Given the description of an element on the screen output the (x, y) to click on. 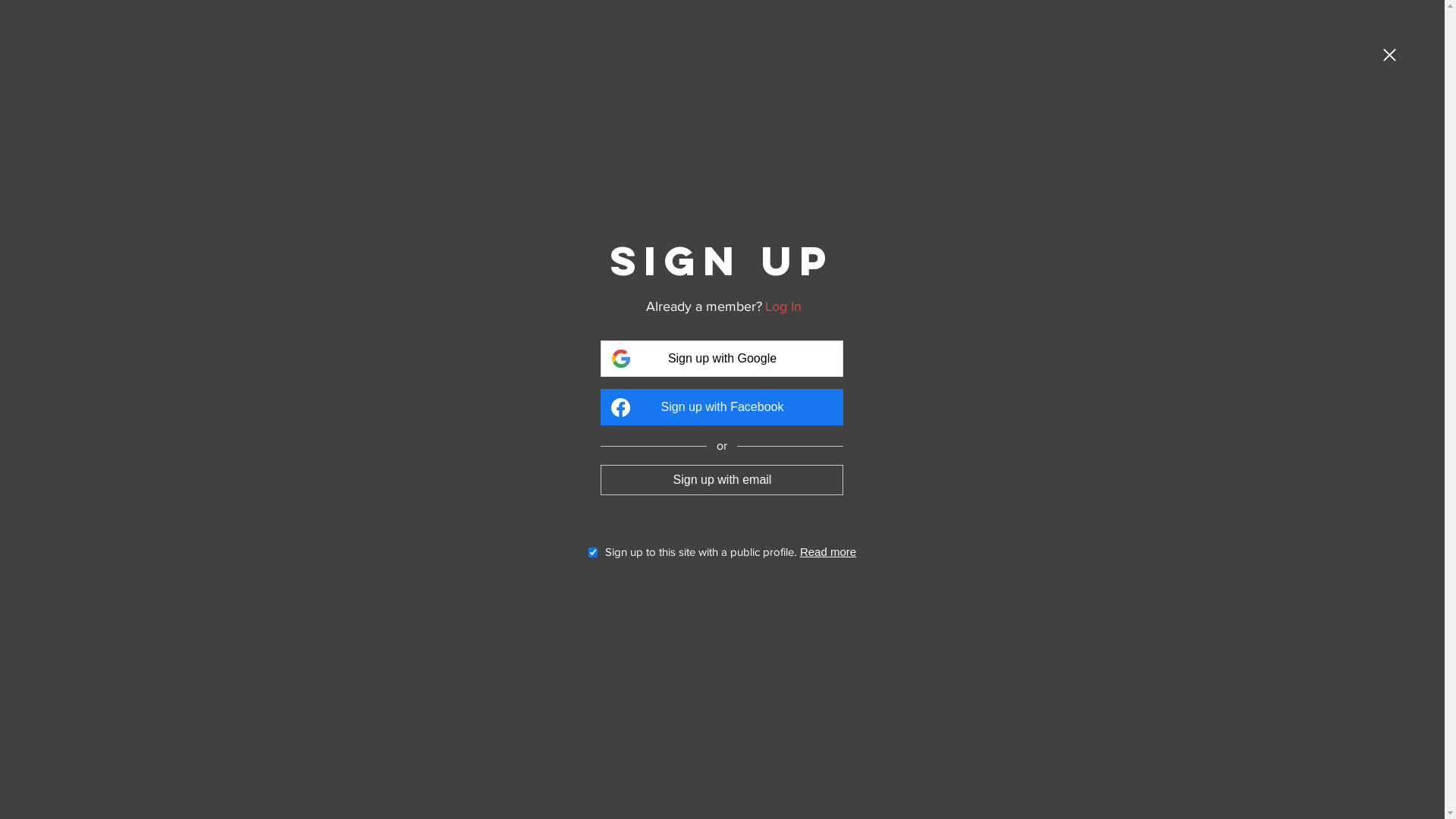
Read more Element type: text (828, 551)
Sign up with Google Element type: text (721, 358)
Sign up with Facebook Element type: text (721, 407)
Sign up with email Element type: text (721, 479)
Log In Element type: text (783, 306)
